Given the description of an element on the screen output the (x, y) to click on. 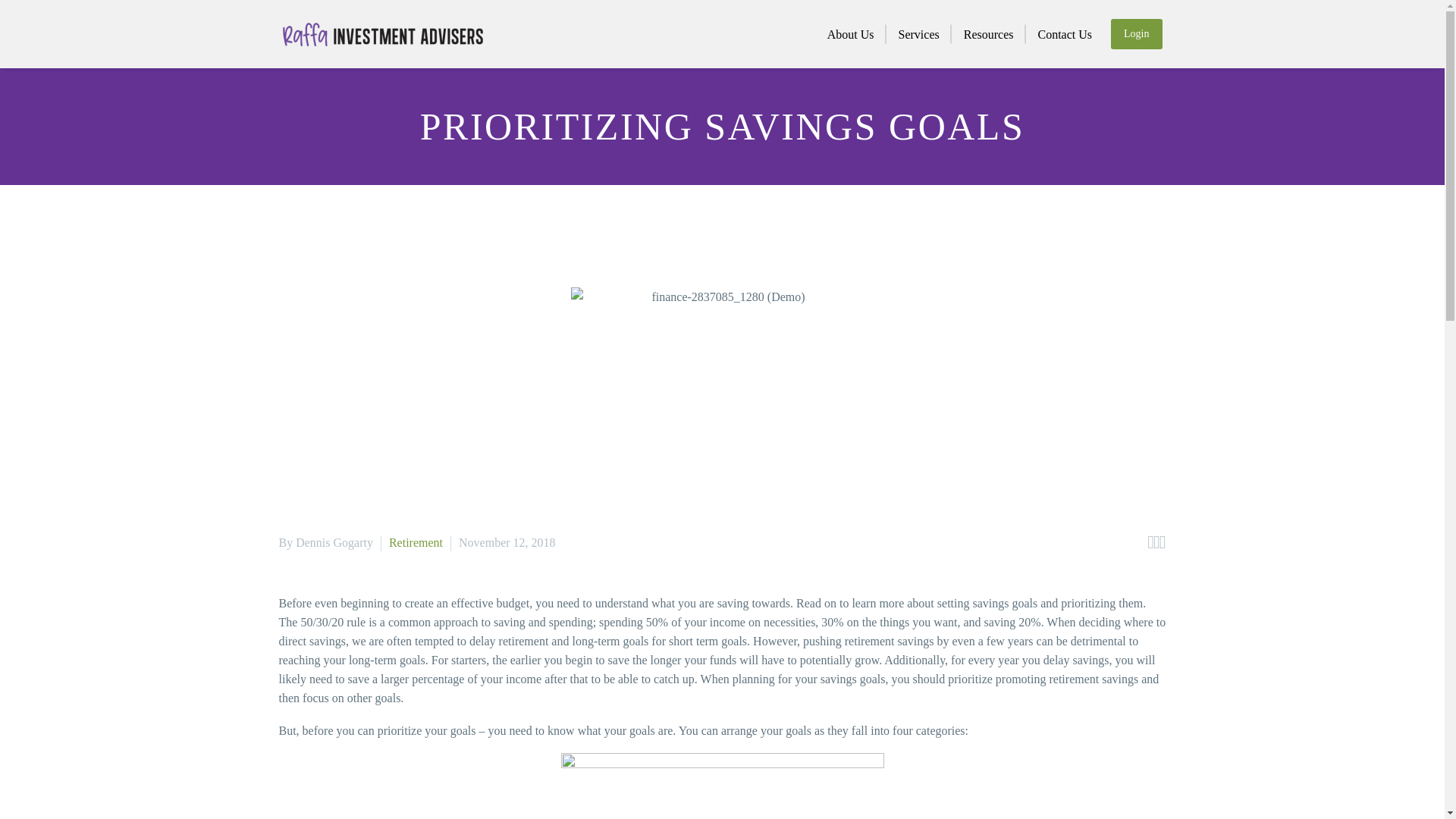
Login (1135, 33)
Retirement (415, 542)
Resources (989, 33)
About Us (850, 33)
Contact Us (1064, 33)
View all posts in Retirement (415, 542)
Login (1135, 33)
Services (919, 33)
